Given the description of an element on the screen output the (x, y) to click on. 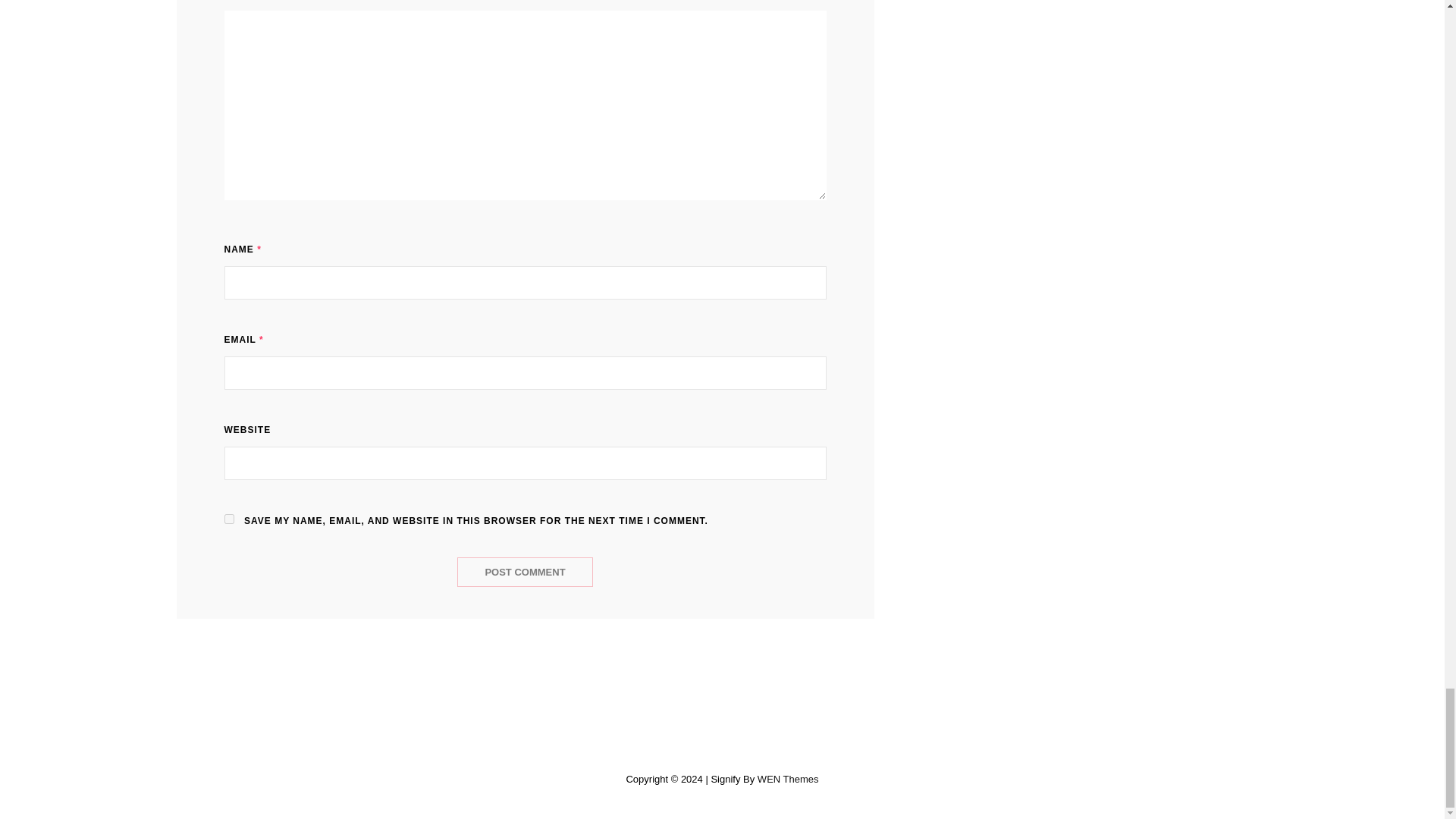
Post Comment (524, 572)
yes (229, 519)
Post Comment (524, 572)
